Given the description of an element on the screen output the (x, y) to click on. 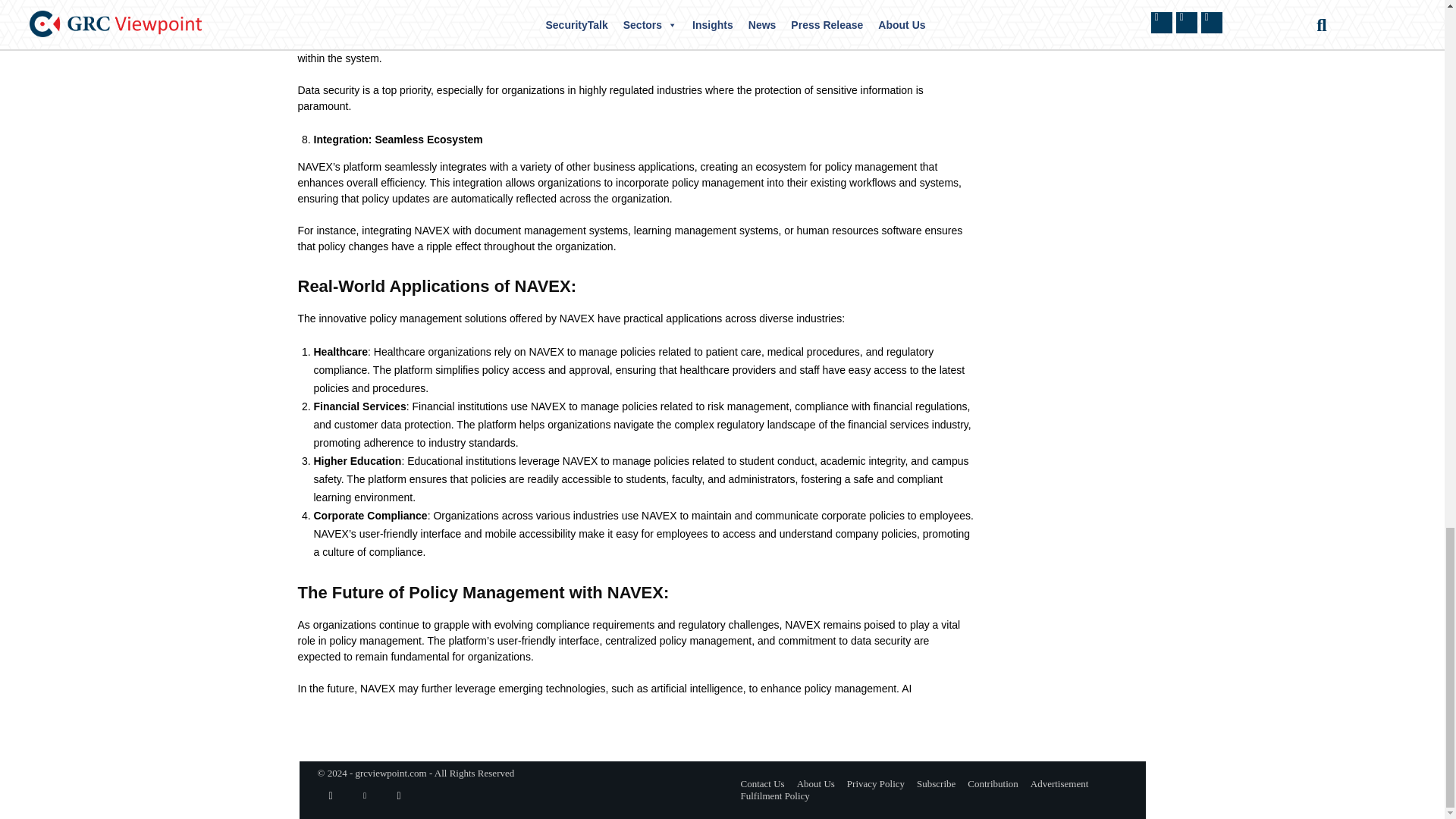
Twitter (398, 795)
Linkedin (365, 795)
Facebook (330, 795)
